Given the description of an element on the screen output the (x, y) to click on. 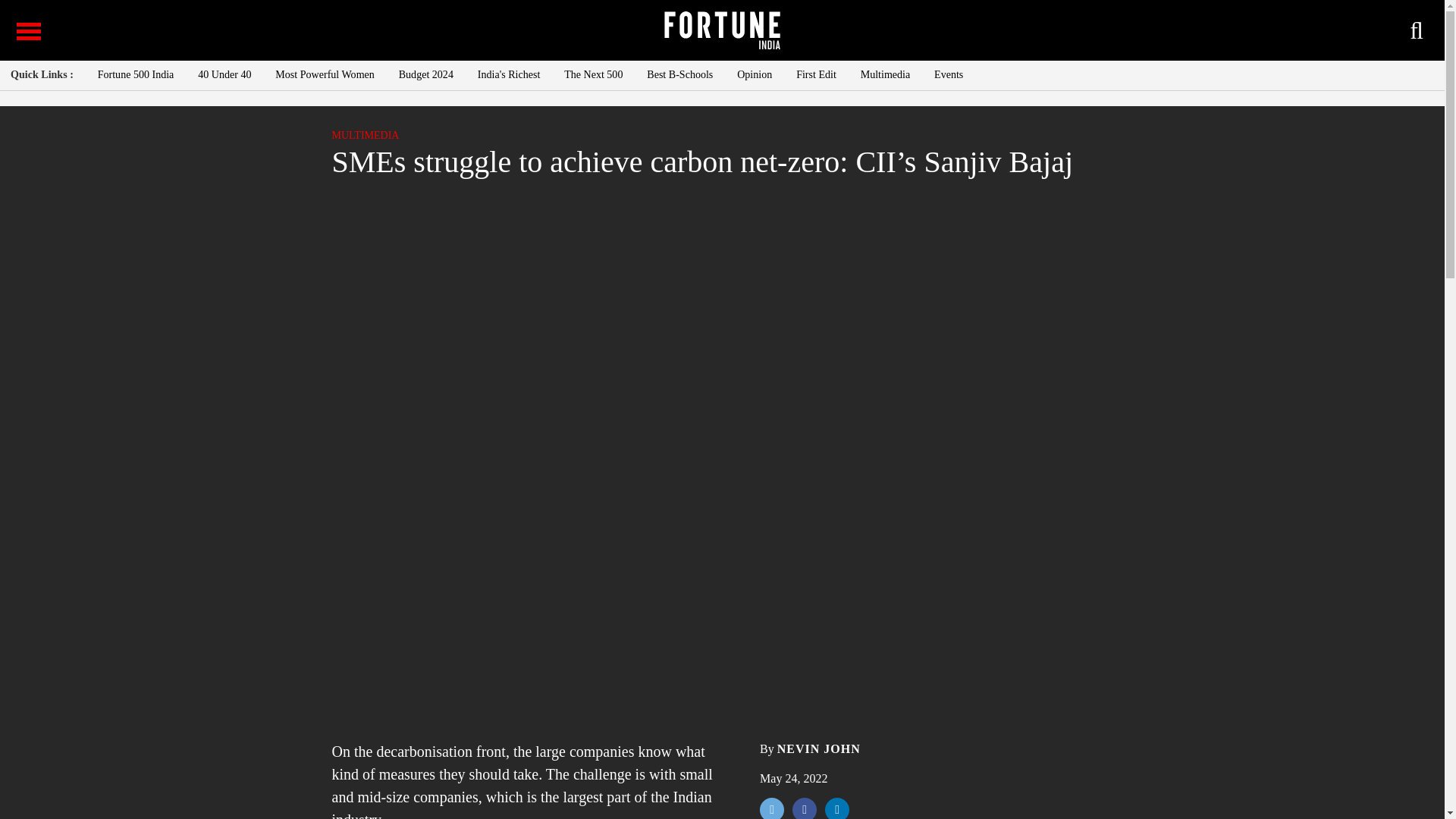
Most Powerful Women (324, 74)
Multimedia (364, 134)
Nevin John (818, 748)
First Edit (815, 74)
Budget 2024 (425, 74)
FortuneIndia (721, 29)
Fortune 500 India (135, 74)
Facebook (804, 808)
Multimedia (885, 74)
Twitter (772, 808)
The Next 500 (593, 74)
Events (948, 74)
Opinion (753, 74)
Best B-Schools (679, 74)
40 Under 40 (224, 74)
